Given the description of an element on the screen output the (x, y) to click on. 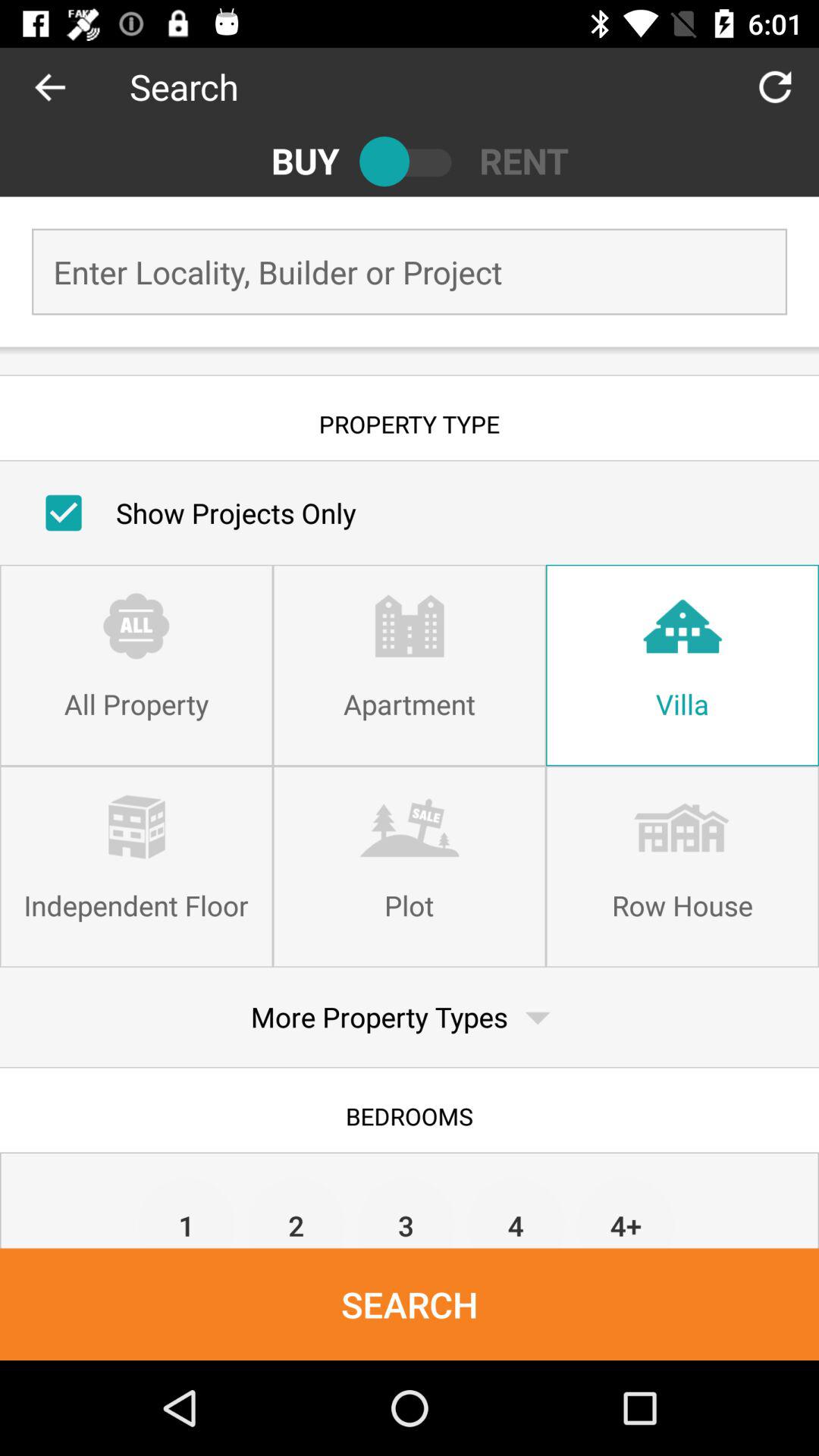
enter locality text (409, 271)
